Given the description of an element on the screen output the (x, y) to click on. 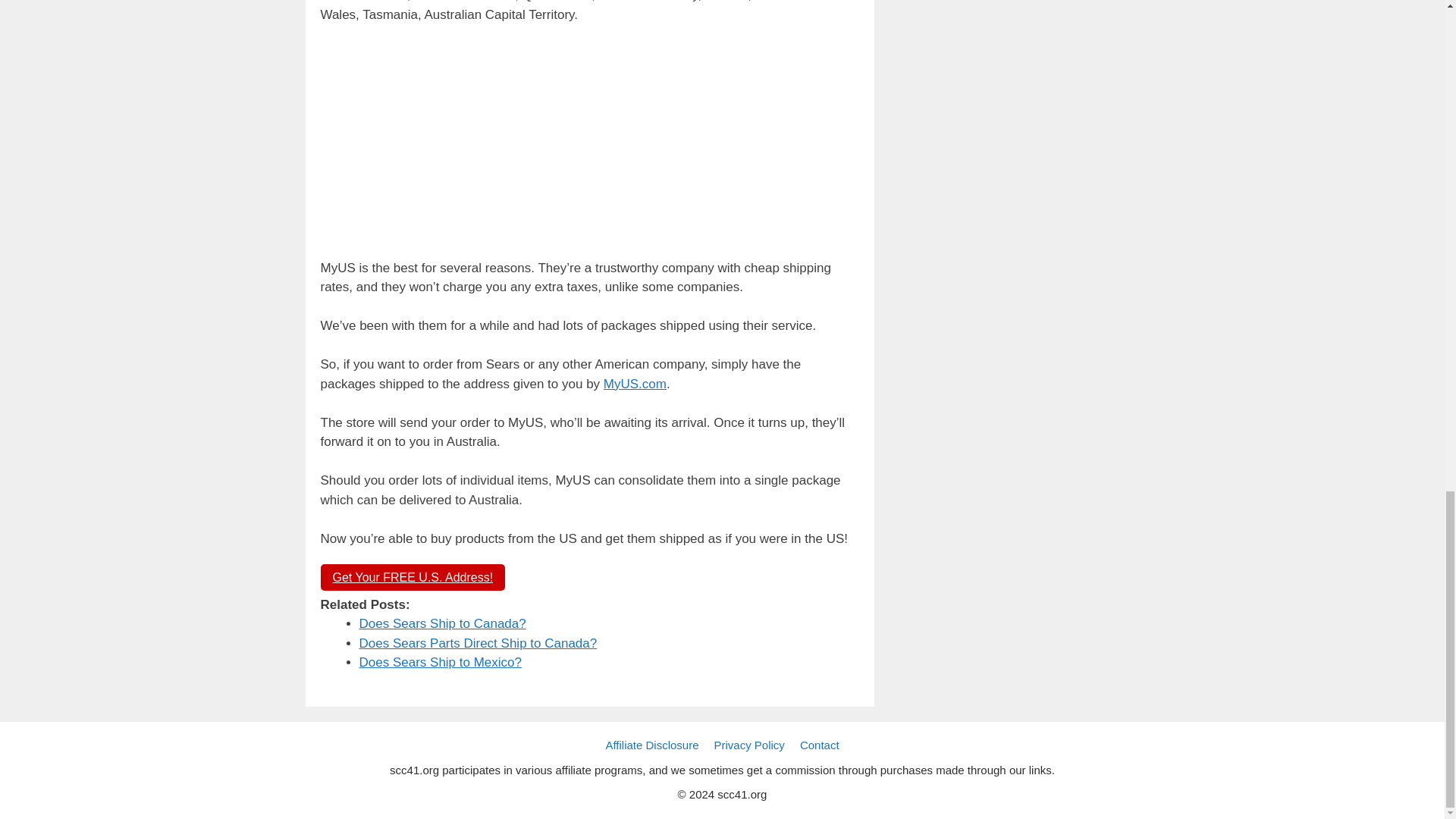
Get Your FREE U.S. Address! (412, 577)
Privacy Policy (749, 744)
Contact (819, 744)
Does Sears Ship to Canada? (442, 623)
Affiliate Disclosure (651, 744)
MyUS.com (635, 383)
Does Sears Parts Direct Ship to Canada? (477, 643)
Does Sears Ship to Mexico? (440, 662)
